Given the description of an element on the screen output the (x, y) to click on. 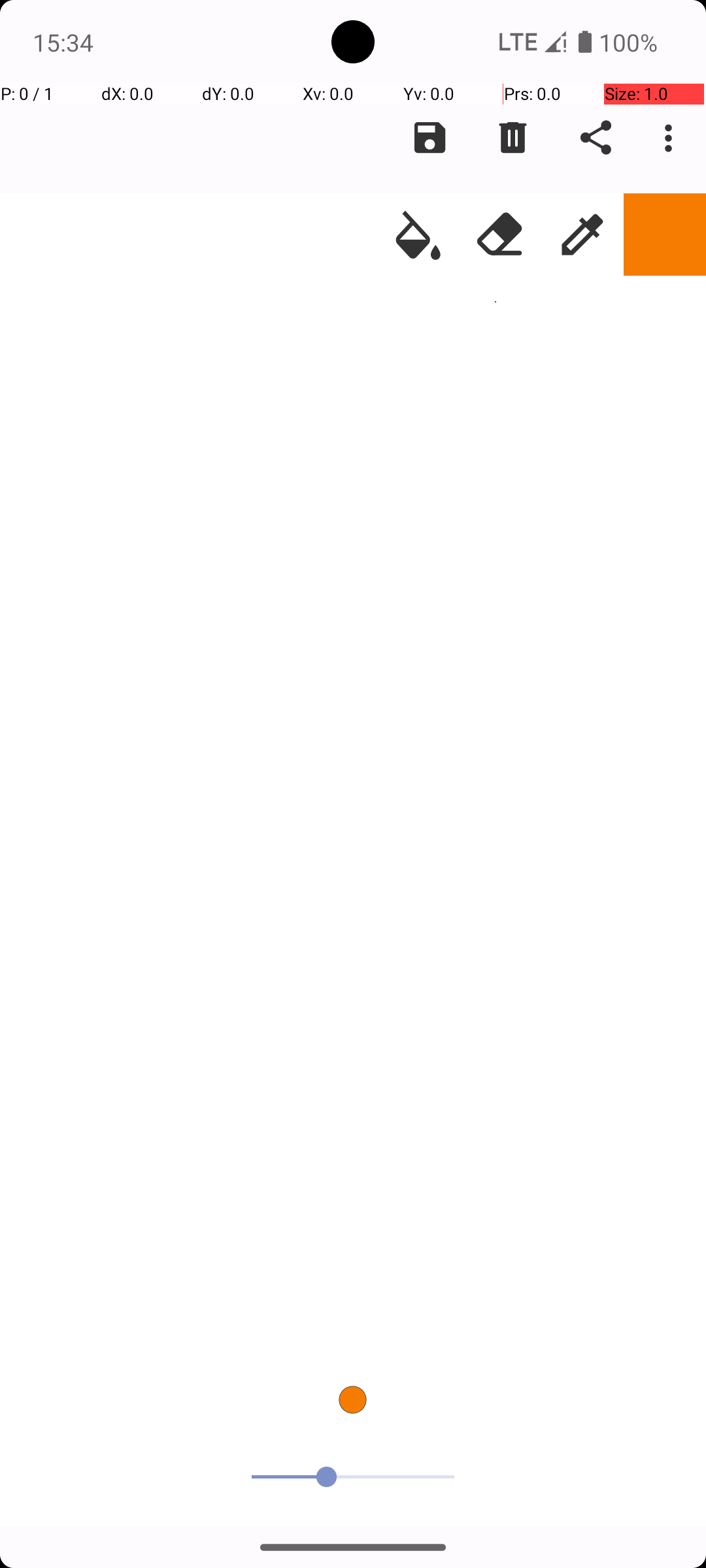
Bucket fill Element type: android.widget.ImageView (417, 234)
Eyedropper Element type: android.widget.ImageView (582, 234)
Change color Element type: android.widget.ImageView (664, 234)
